Given the description of an element on the screen output the (x, y) to click on. 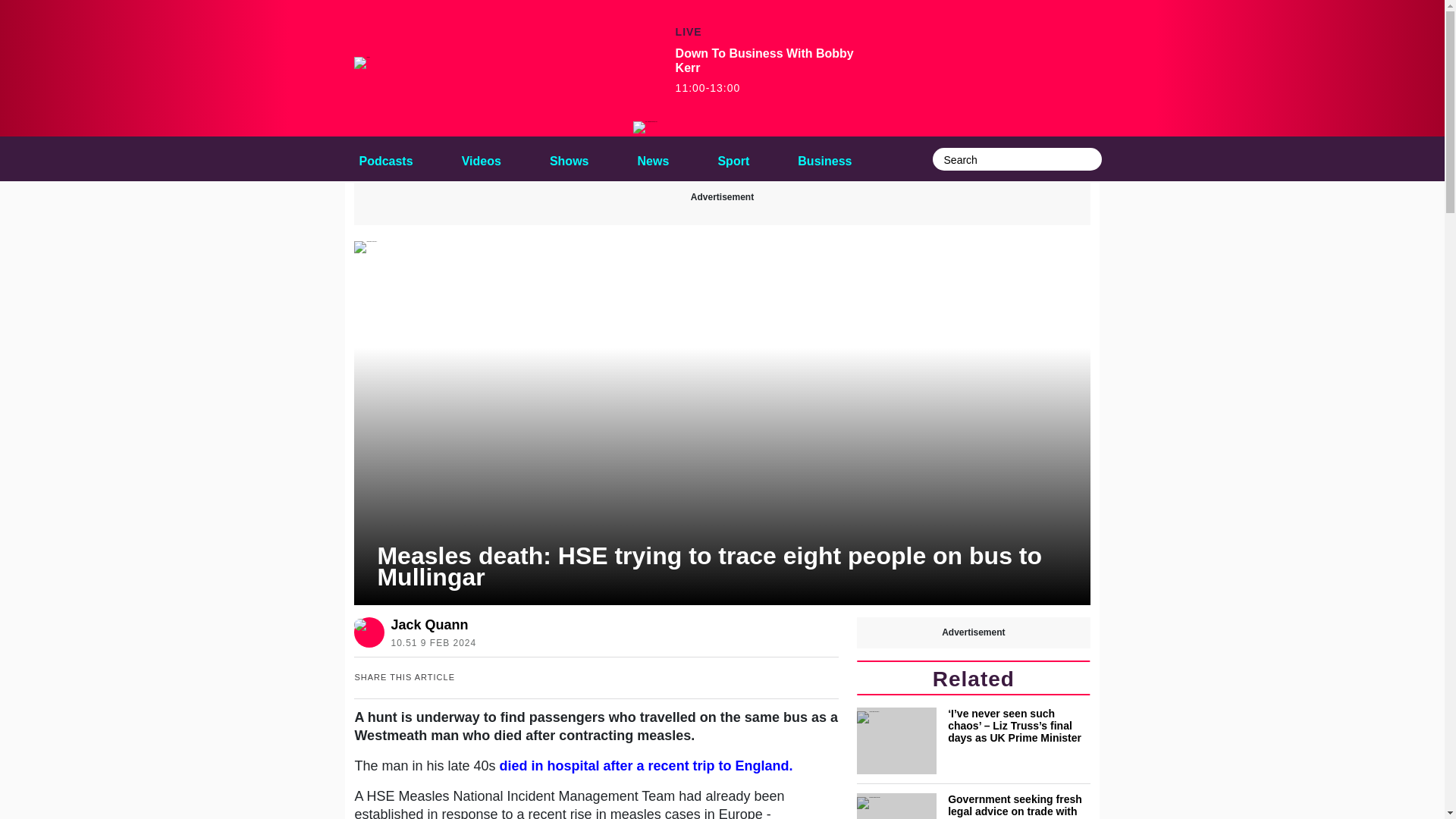
News (653, 158)
Videos (481, 158)
Jack Quann (430, 624)
Shows (569, 158)
Sport (733, 158)
Business (824, 158)
Sport (733, 158)
News (653, 158)
Business (824, 158)
died in hospital after a recent trip to England. (646, 765)
